Given the description of an element on the screen output the (x, y) to click on. 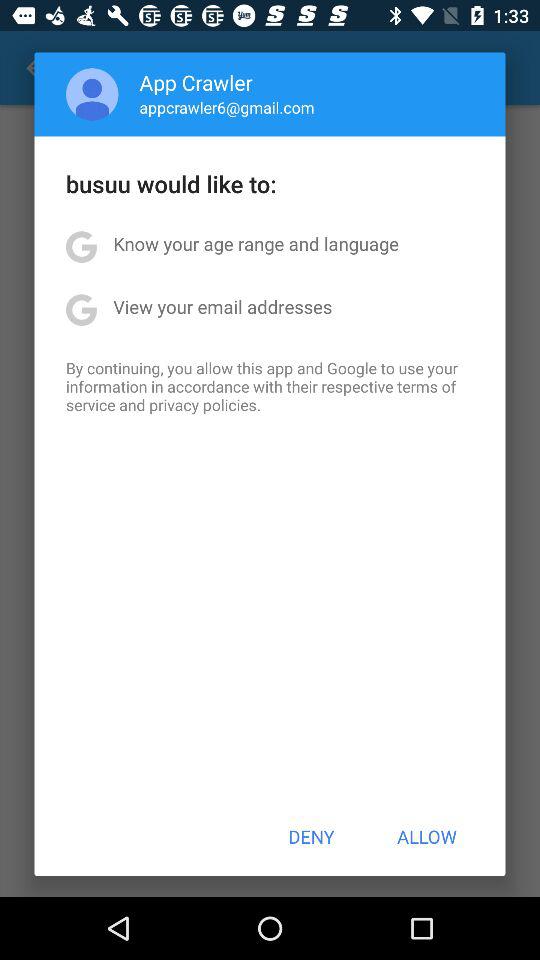
click icon below the by continuing you icon (311, 836)
